Given the description of an element on the screen output the (x, y) to click on. 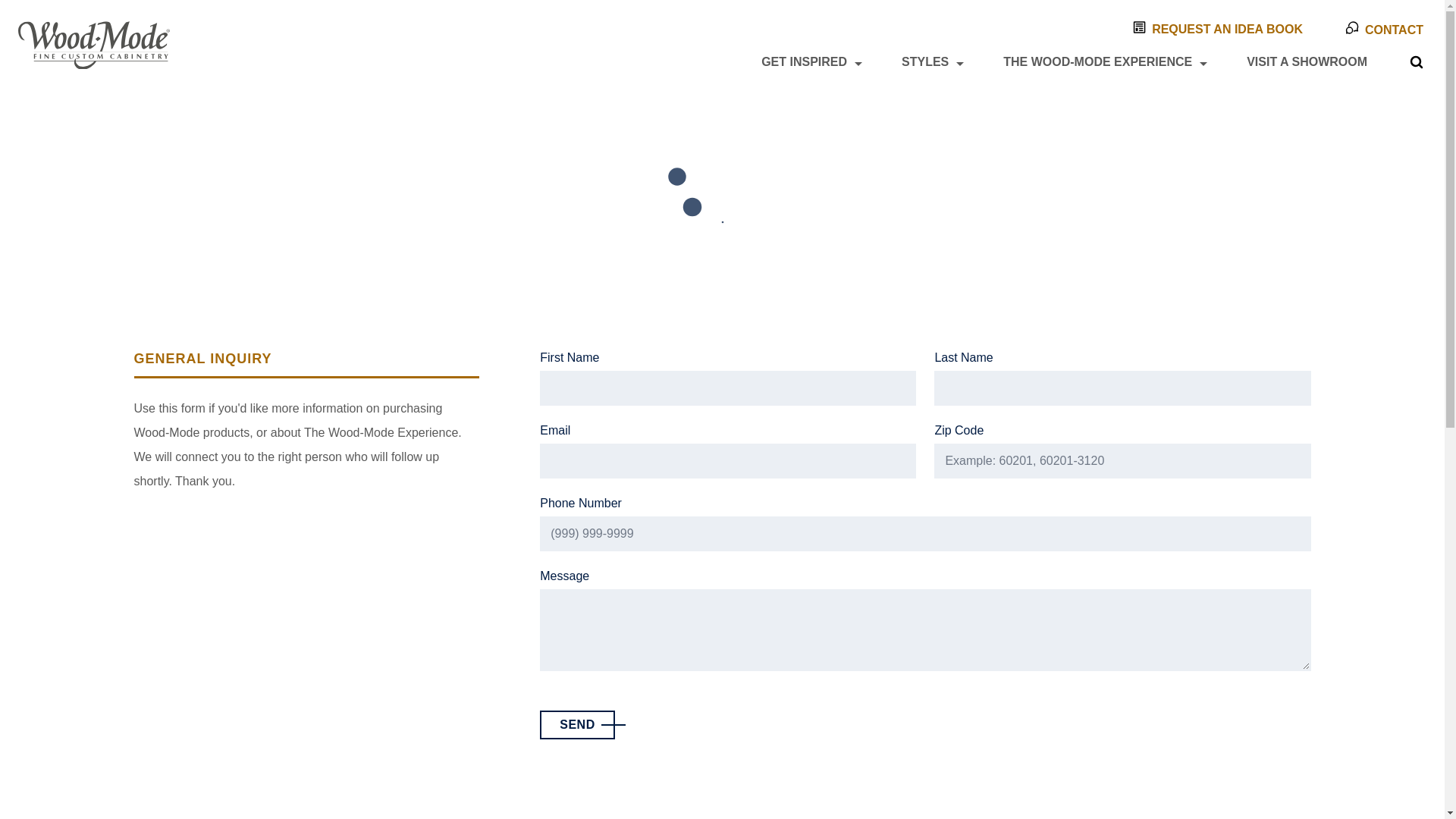
REQUEST AN IDEA BOOK (1217, 28)
VISIT A SHOWROOM (1306, 62)
SEARCH ICON (1416, 61)
STYLES (925, 62)
CONTACT (1384, 29)
SEND (577, 724)
THE WOOD-MODE EXPERIENCE (1097, 62)
GET INSPIRED (804, 62)
Wood-Mode Fine Custom Cabinetry (93, 45)
